Given the description of an element on the screen output the (x, y) to click on. 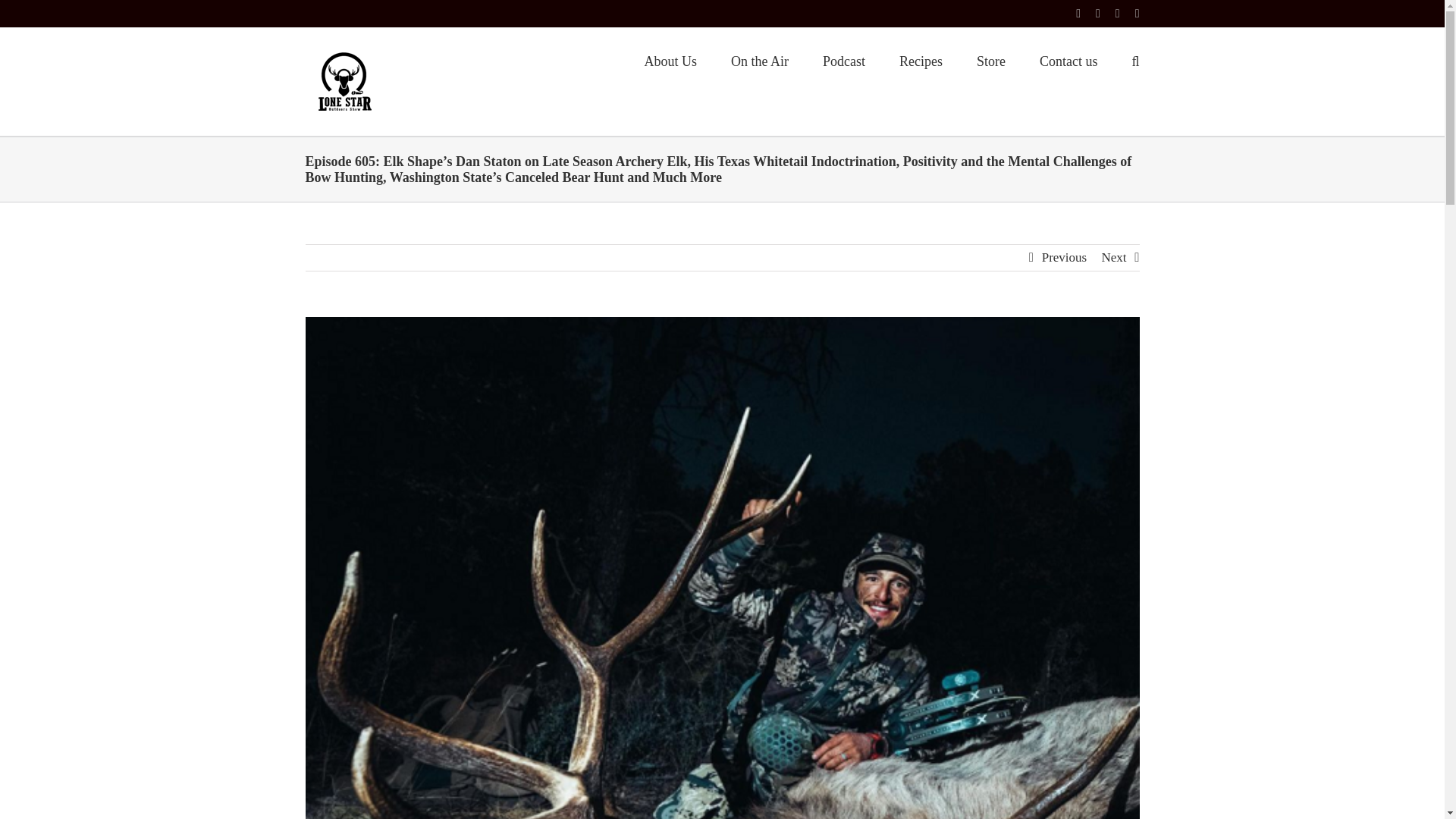
Previous (1064, 257)
Next (1112, 257)
On the Air (759, 59)
Contact us (1068, 59)
